Given the description of an element on the screen output the (x, y) to click on. 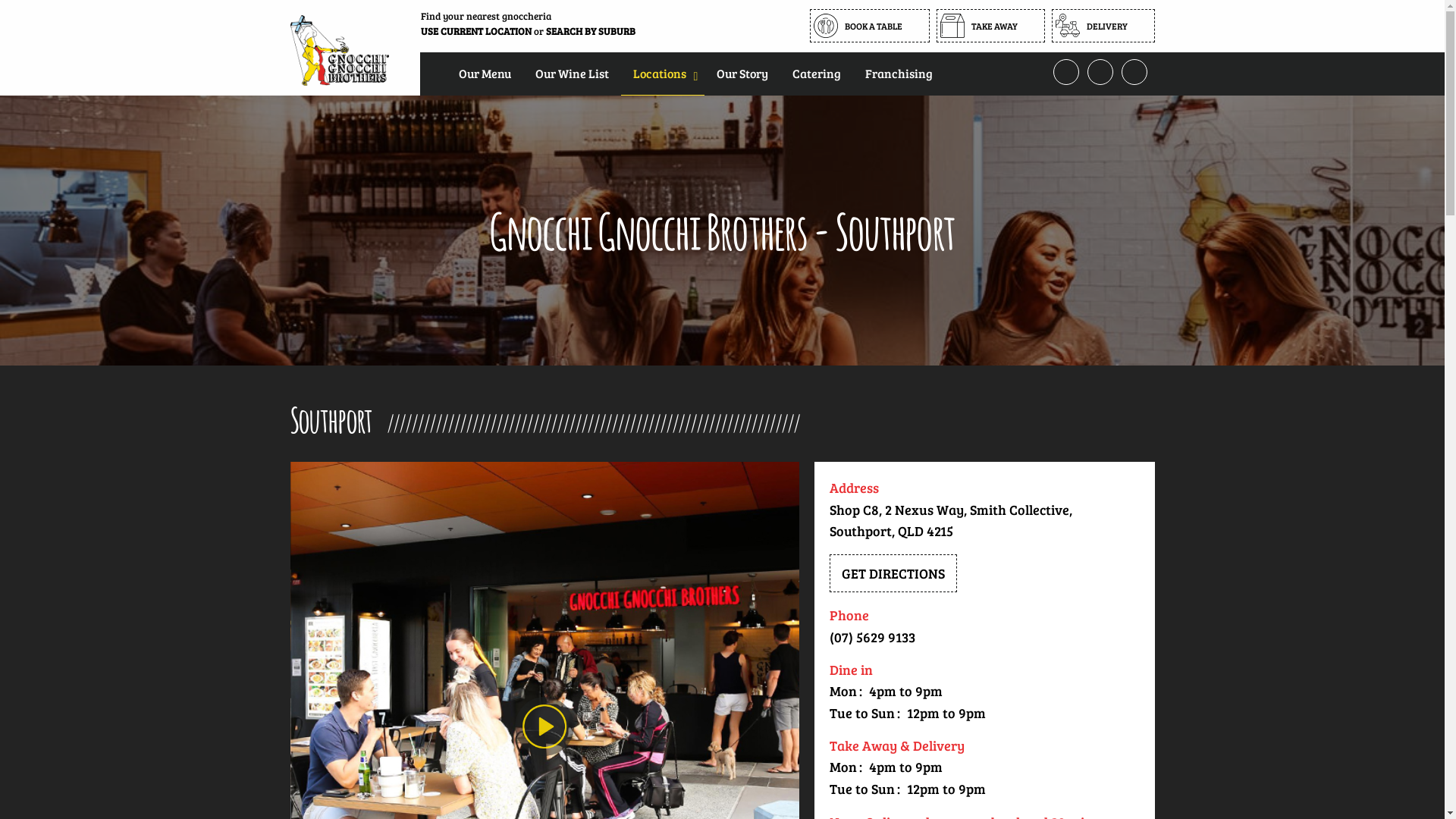
Our Menu Element type: text (483, 73)
USE CURRENT LOCATION Element type: text (475, 30)
SEARCH BY SUBURB Element type: text (590, 30)
Our Story Element type: text (741, 73)
Locations Element type: text (661, 73)
Catering Element type: text (815, 73)
Our Wine List Element type: text (572, 73)
DELIVERY Element type: text (1102, 25)
GET DIRECTIONS Element type: text (893, 573)
Franchising Element type: text (898, 73)
TAKE AWAY Element type: text (989, 25)
BOOK A TABLE Element type: text (869, 25)
